Given the description of an element on the screen output the (x, y) to click on. 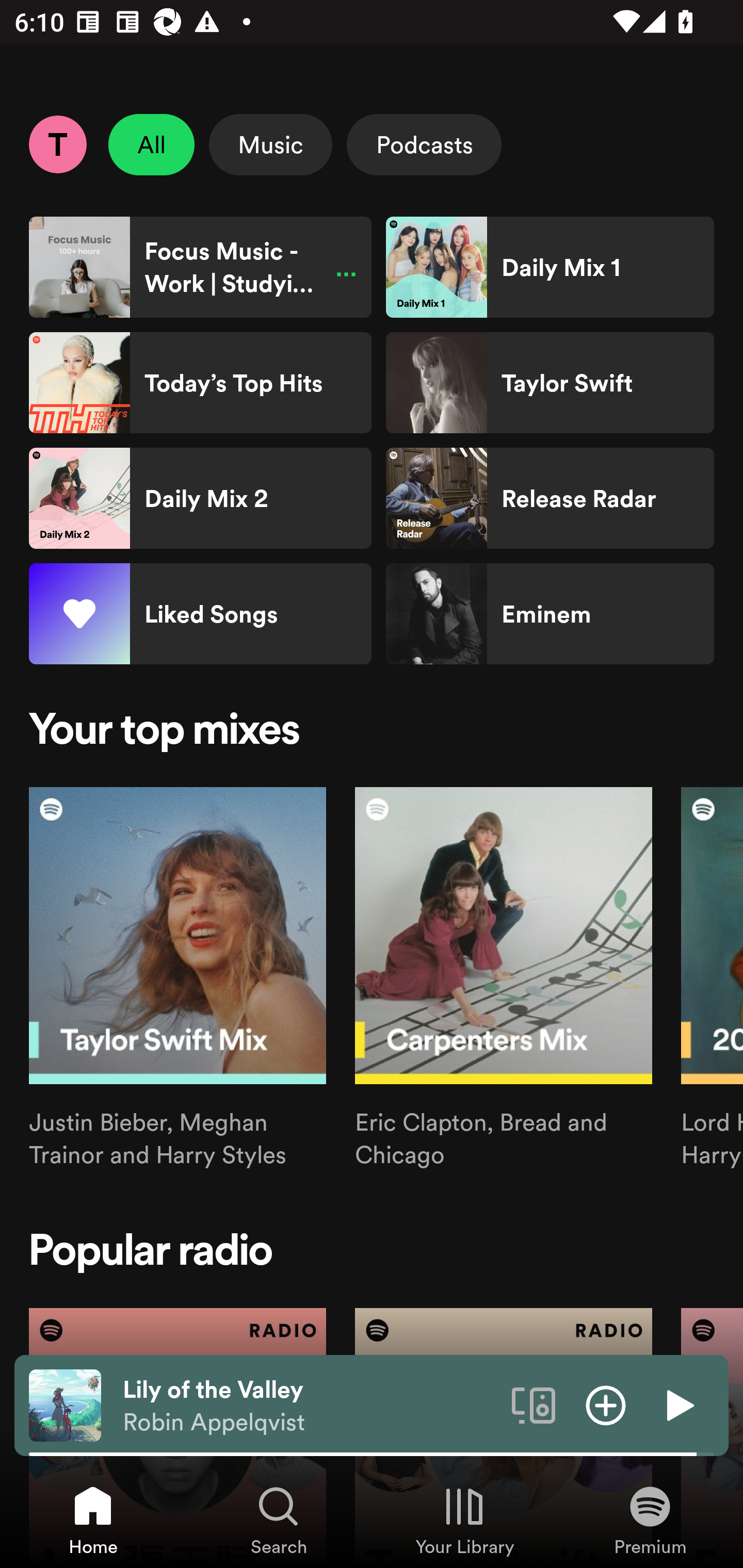
Profile (57, 144)
All Unselect All (151, 144)
Music Select Music (270, 144)
Podcasts Select Podcasts (423, 144)
Daily Mix 1 Shortcut Daily Mix 1 (549, 267)
Today’s Top Hits Shortcut Today’s Top Hits (199, 382)
Taylor Swift Shortcut Taylor Swift (549, 382)
Daily Mix 2 Shortcut Daily Mix 2 (199, 498)
Release Radar Shortcut Release Radar (549, 498)
Liked Songs Shortcut Liked Songs (199, 613)
Eminem Shortcut Eminem (549, 613)
Lily of the Valley Robin Appelqvist (309, 1405)
The cover art of the currently playing track (64, 1404)
Connect to a device. Opens the devices menu (533, 1404)
Add item (605, 1404)
Play (677, 1404)
Home, Tab 1 of 4 Home Home (92, 1519)
Search, Tab 2 of 4 Search Search (278, 1519)
Your Library, Tab 3 of 4 Your Library Your Library (464, 1519)
Premium, Tab 4 of 4 Premium Premium (650, 1519)
